Given the description of an element on the screen output the (x, y) to click on. 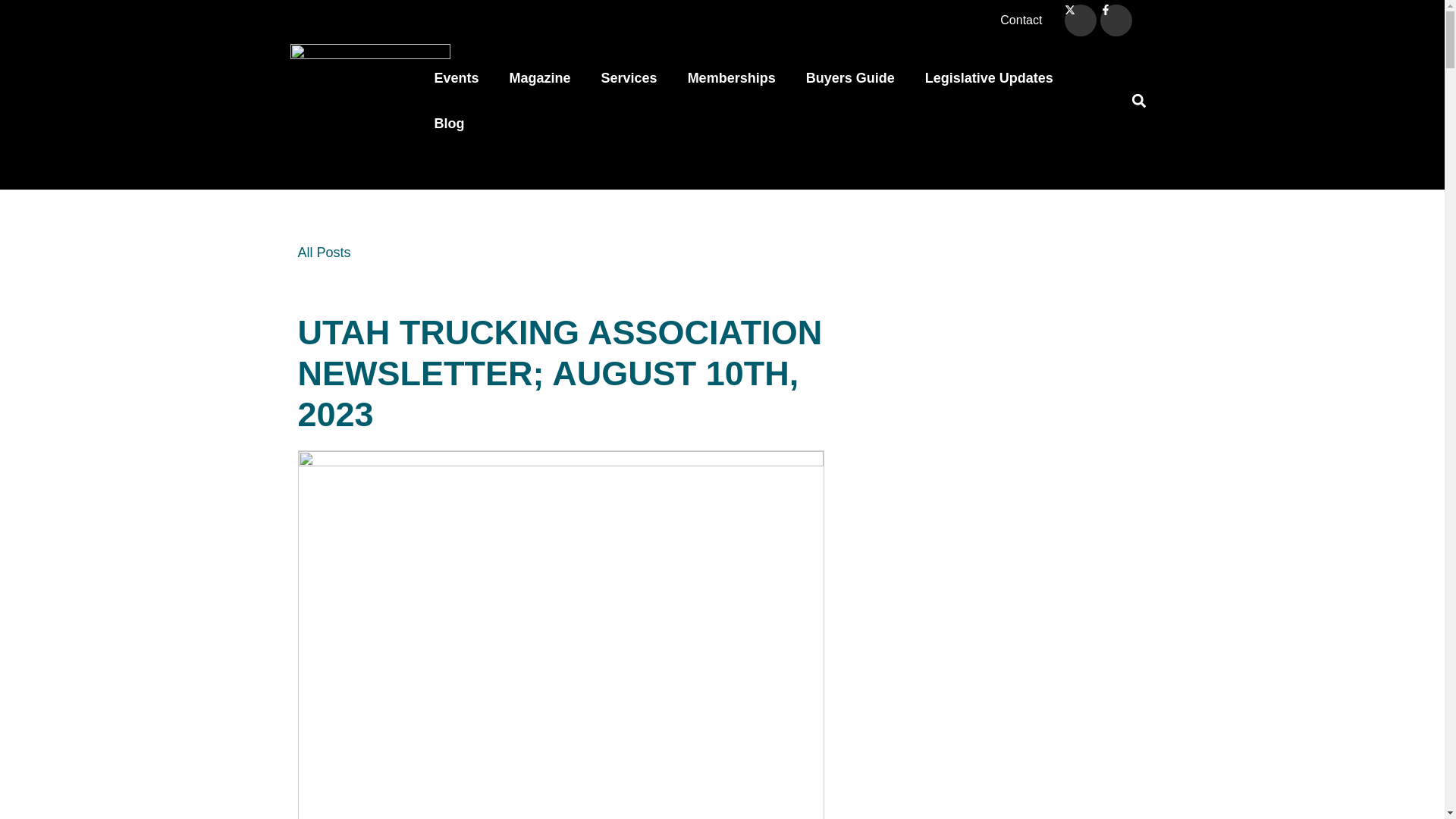
Magazine (540, 77)
Contact (1021, 19)
All Posts (323, 252)
Memberships (731, 77)
Events (456, 77)
Services (629, 77)
Legislative Updates (989, 77)
Buyers Guide (850, 77)
Blog (449, 123)
